Given the description of an element on the screen output the (x, y) to click on. 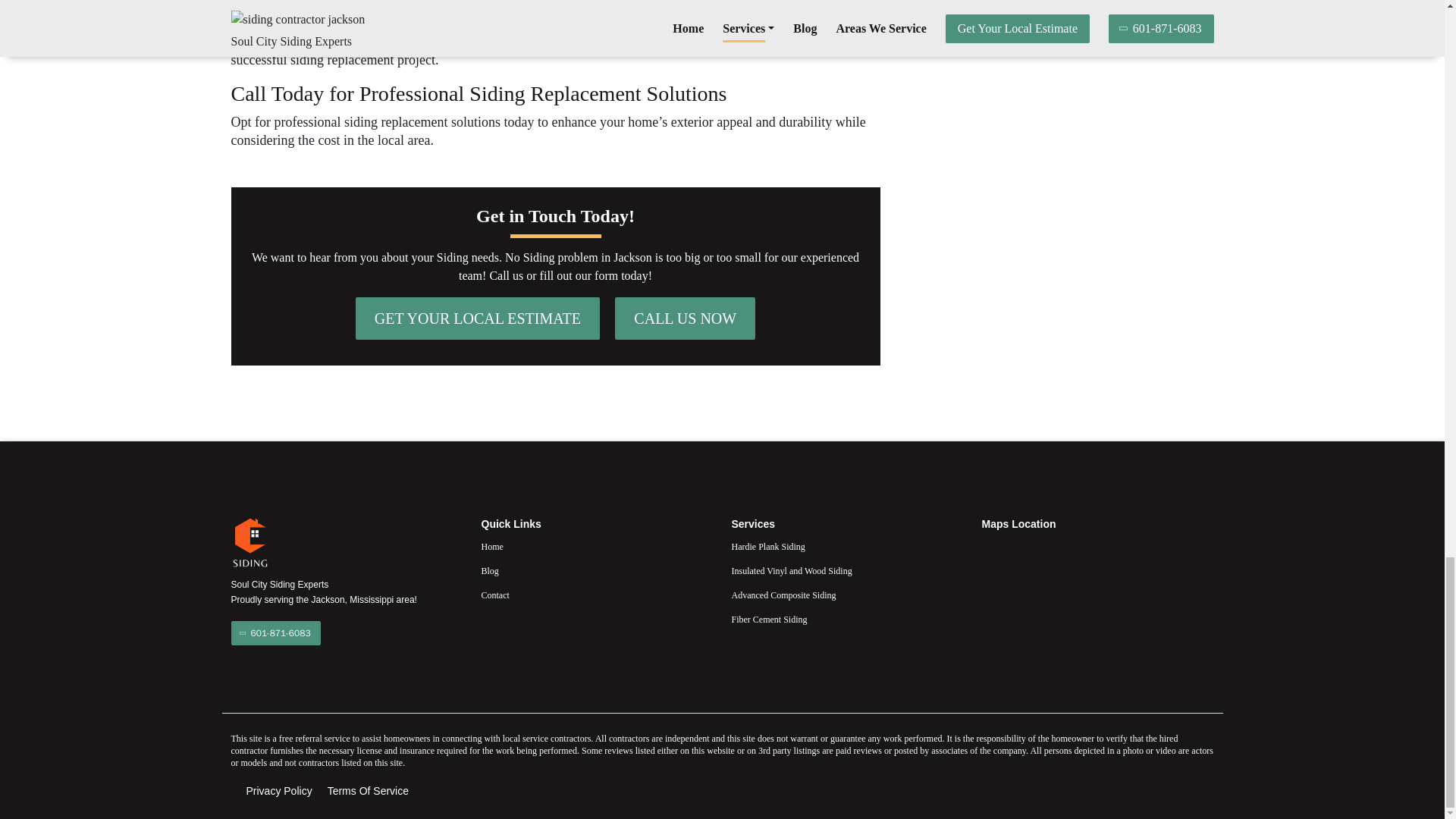
Fiber Cement Siding (846, 619)
Privacy Policy (278, 791)
GET YOUR LOCAL ESTIMATE (477, 318)
Contact (596, 595)
Home (596, 546)
CALL US NOW (684, 318)
Blog (596, 570)
Hardie Plank Siding (846, 546)
Advanced Composite Siding (846, 595)
Terms Of Service (368, 791)
Insulated Vinyl and Wood Siding (846, 570)
601-871-6083 (275, 632)
